Given the description of an element on the screen output the (x, y) to click on. 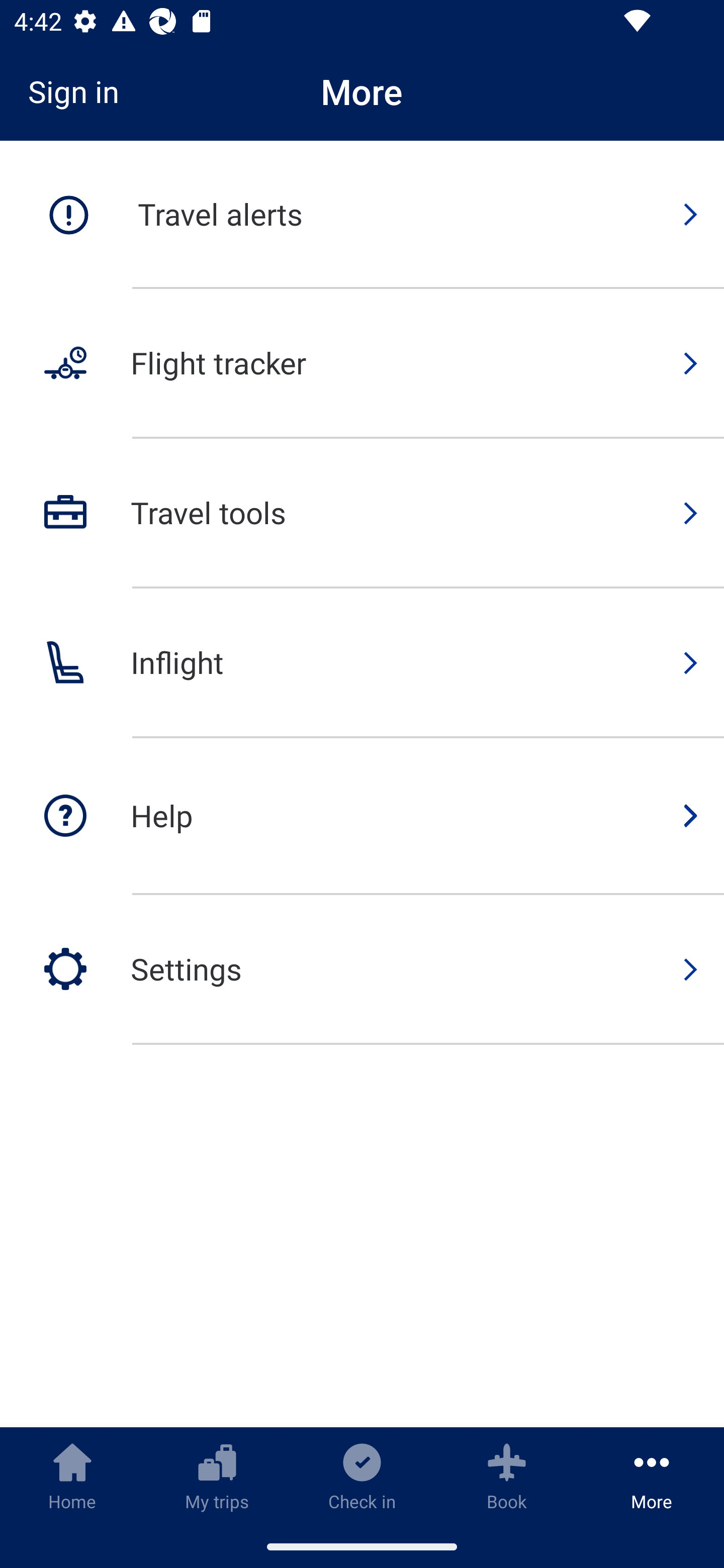
Sign in (80, 91)
Travel alerts (362, 214)
Flight tracker (362, 363)
Travel tools (362, 513)
Inflight (362, 663)
Help (362, 816)
Settings (362, 969)
Home (72, 1475)
My trips (216, 1475)
Check in (361, 1475)
Book (506, 1475)
